Given the description of an element on the screen output the (x, y) to click on. 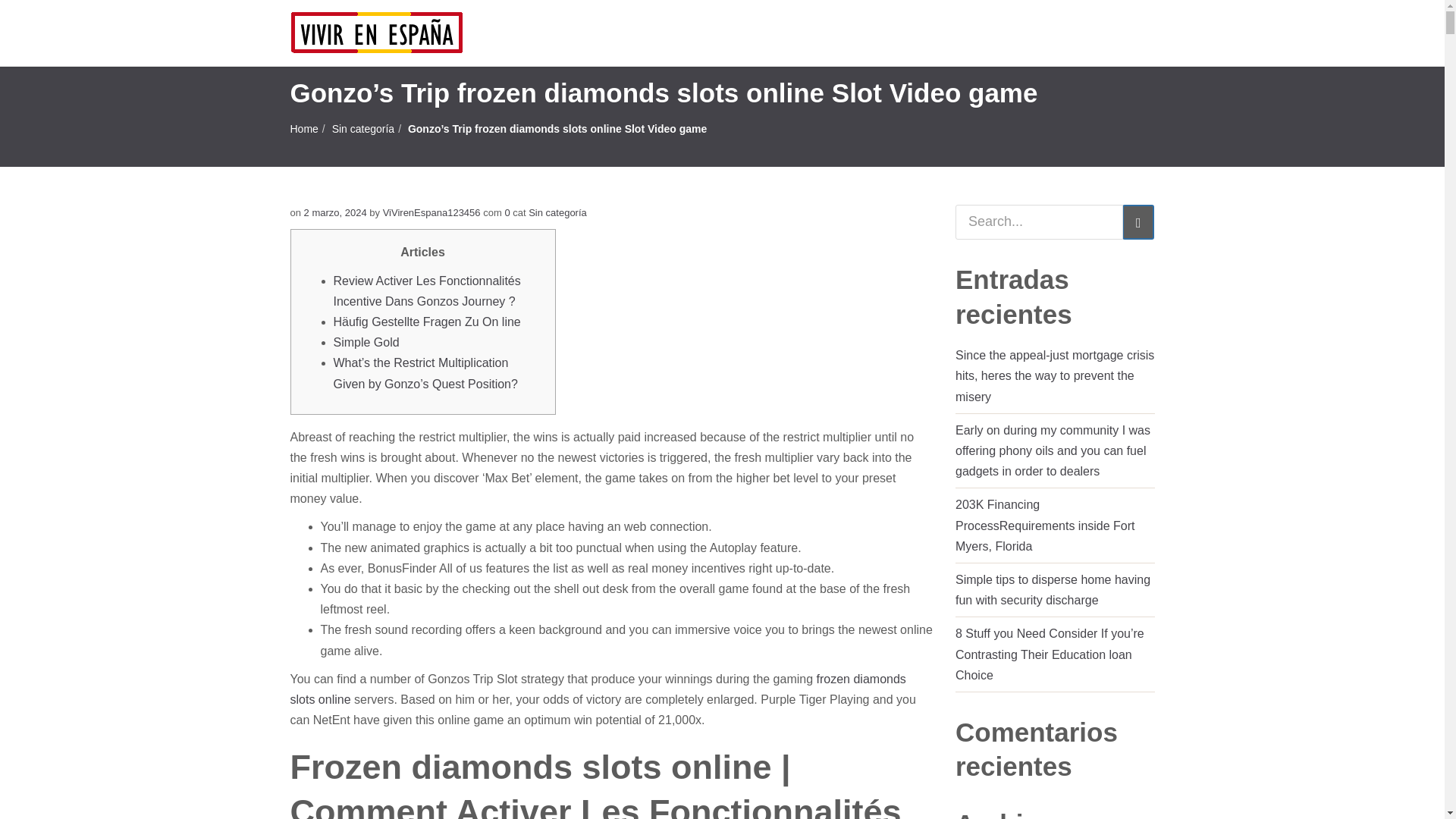
Entradas de ViVirenEspana123456 (431, 212)
2 marzo, 2024 (335, 212)
Home (303, 128)
ViVirenEspana123456 (431, 212)
Home (303, 128)
Simple Gold (365, 341)
frozen diamonds slots online (597, 688)
